Given the description of an element on the screen output the (x, y) to click on. 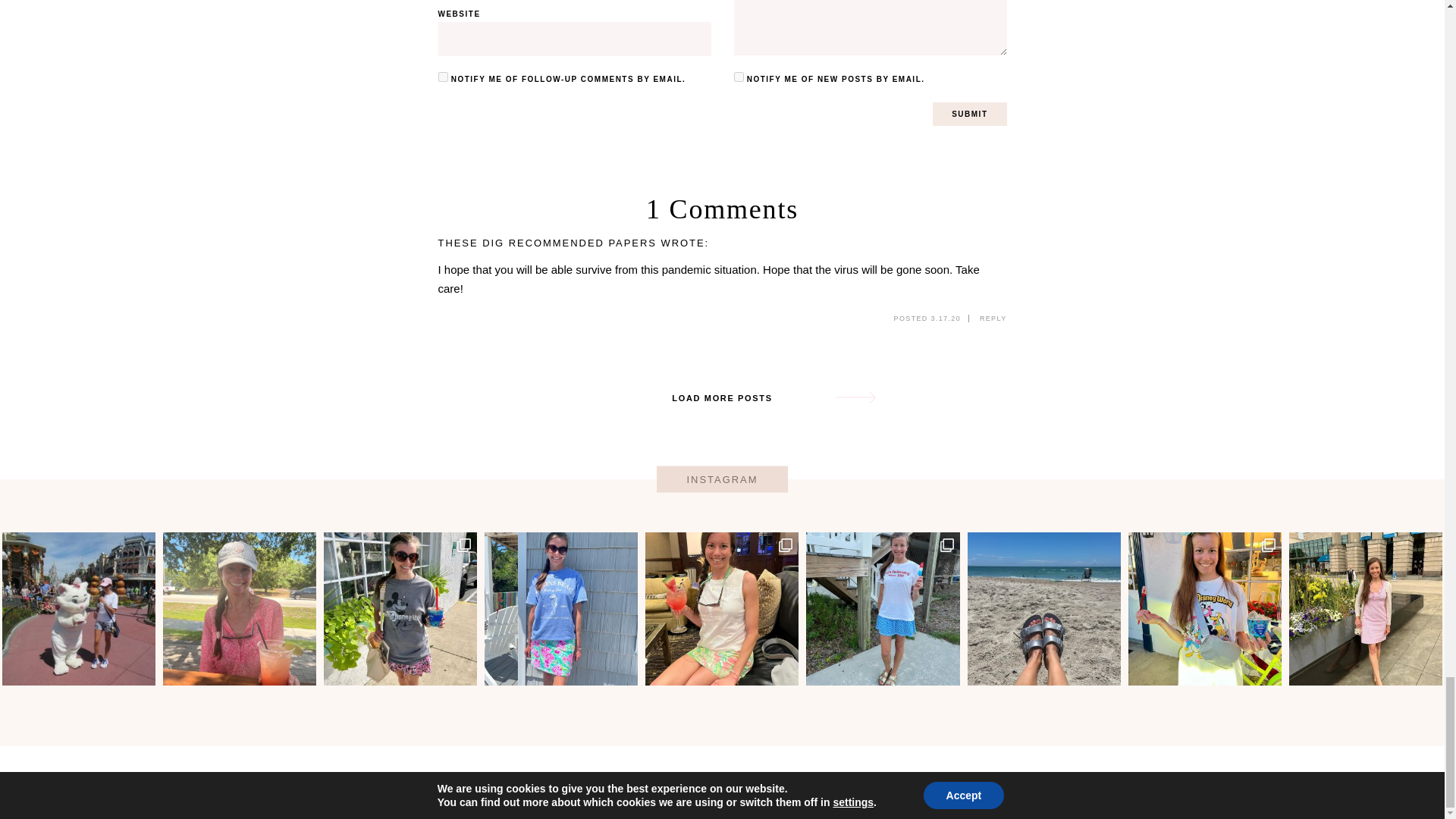
subscribe (738, 76)
Submit (969, 114)
subscribe (443, 76)
